Given the description of an element on the screen output the (x, y) to click on. 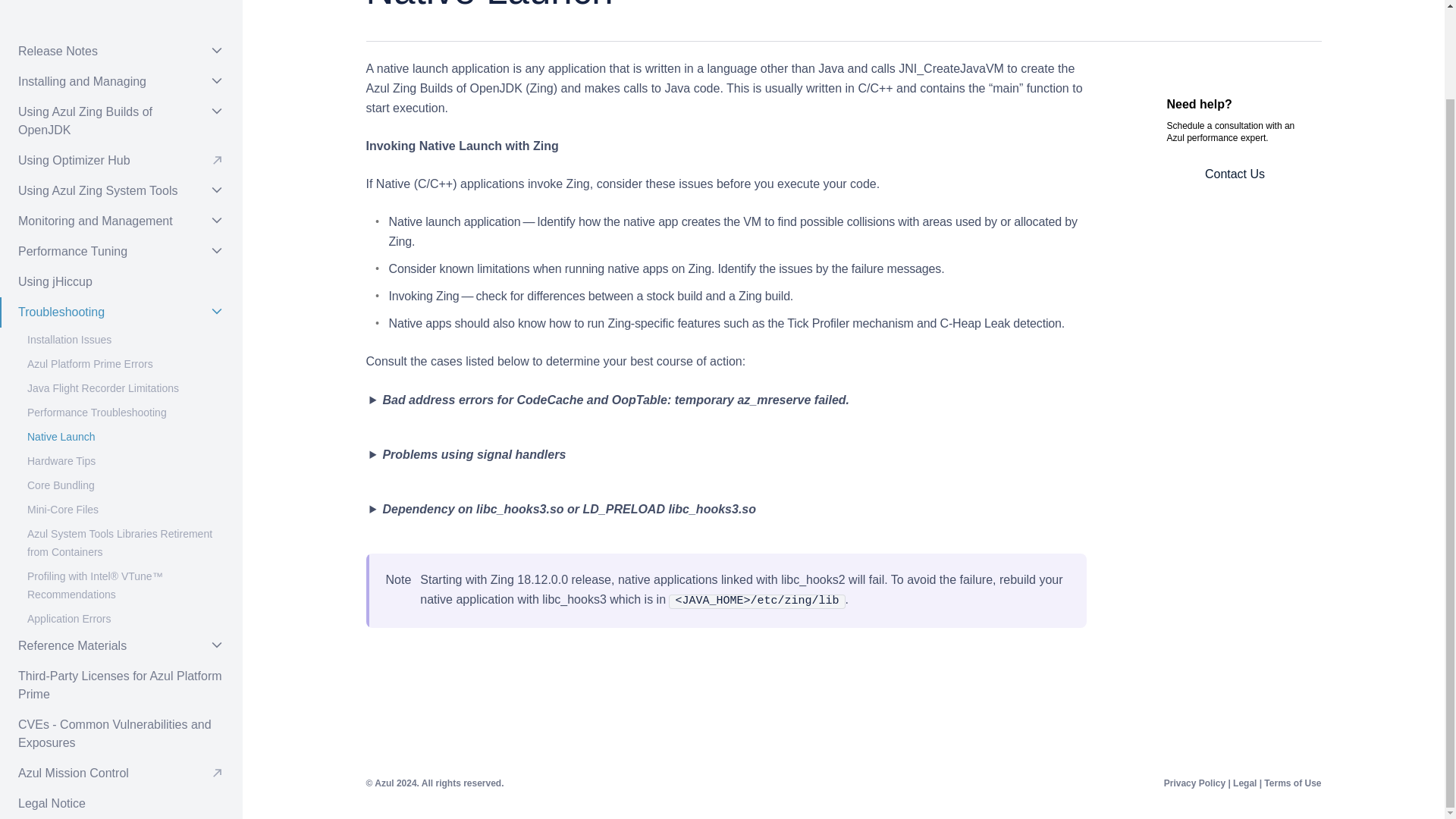
Release Notes (121, 51)
Using Azul Zing Builds of OpenJDK (121, 121)
Installing and Managing (121, 81)
